Given the description of an element on the screen output the (x, y) to click on. 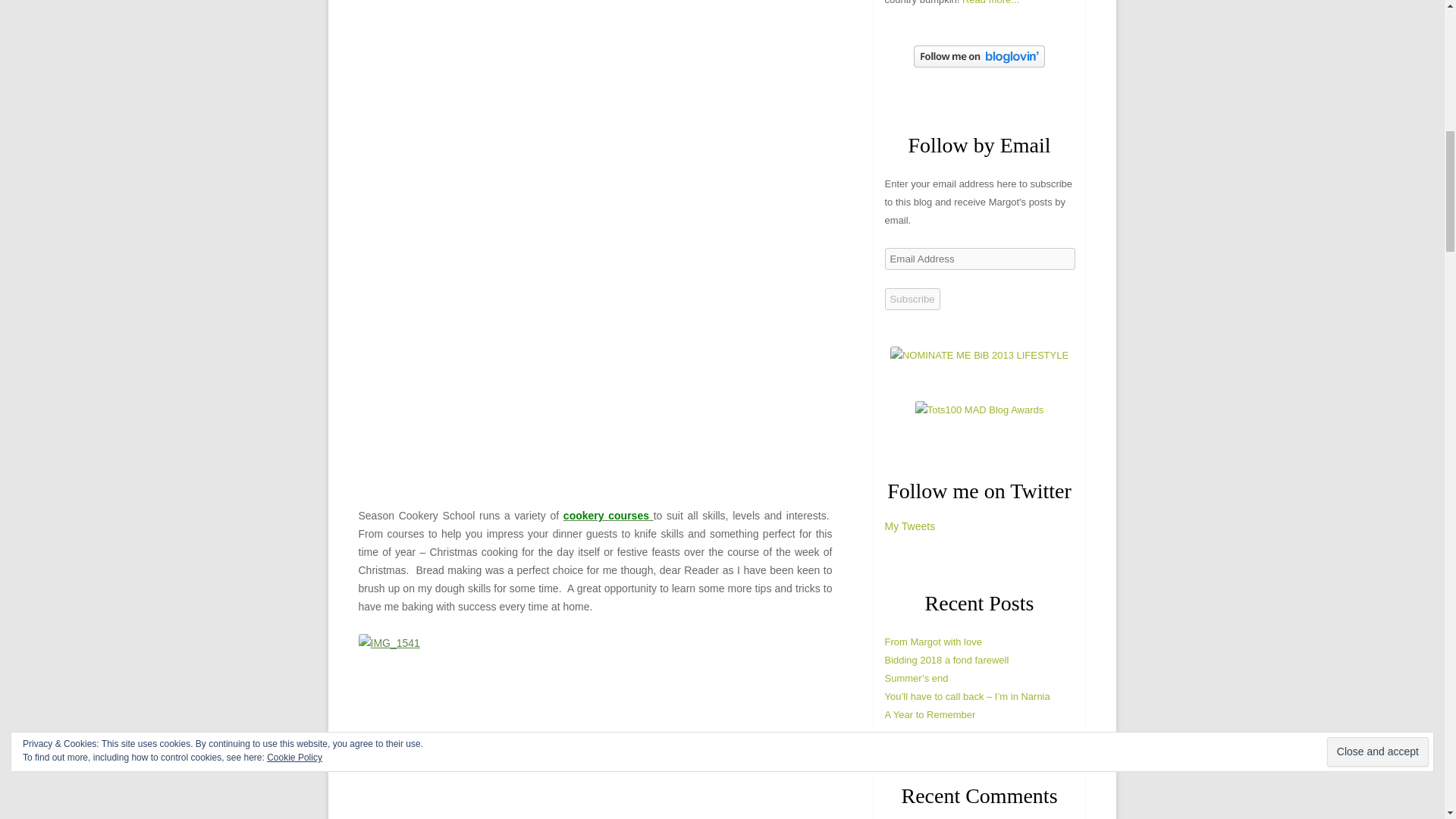
cookery courses (608, 515)
Brilliance in Blogging (978, 355)
Tots100 MAD Blog Awards (979, 409)
Follow Margot Tries the Good Life on Bloglovin (979, 63)
